Given the description of an element on the screen output the (x, y) to click on. 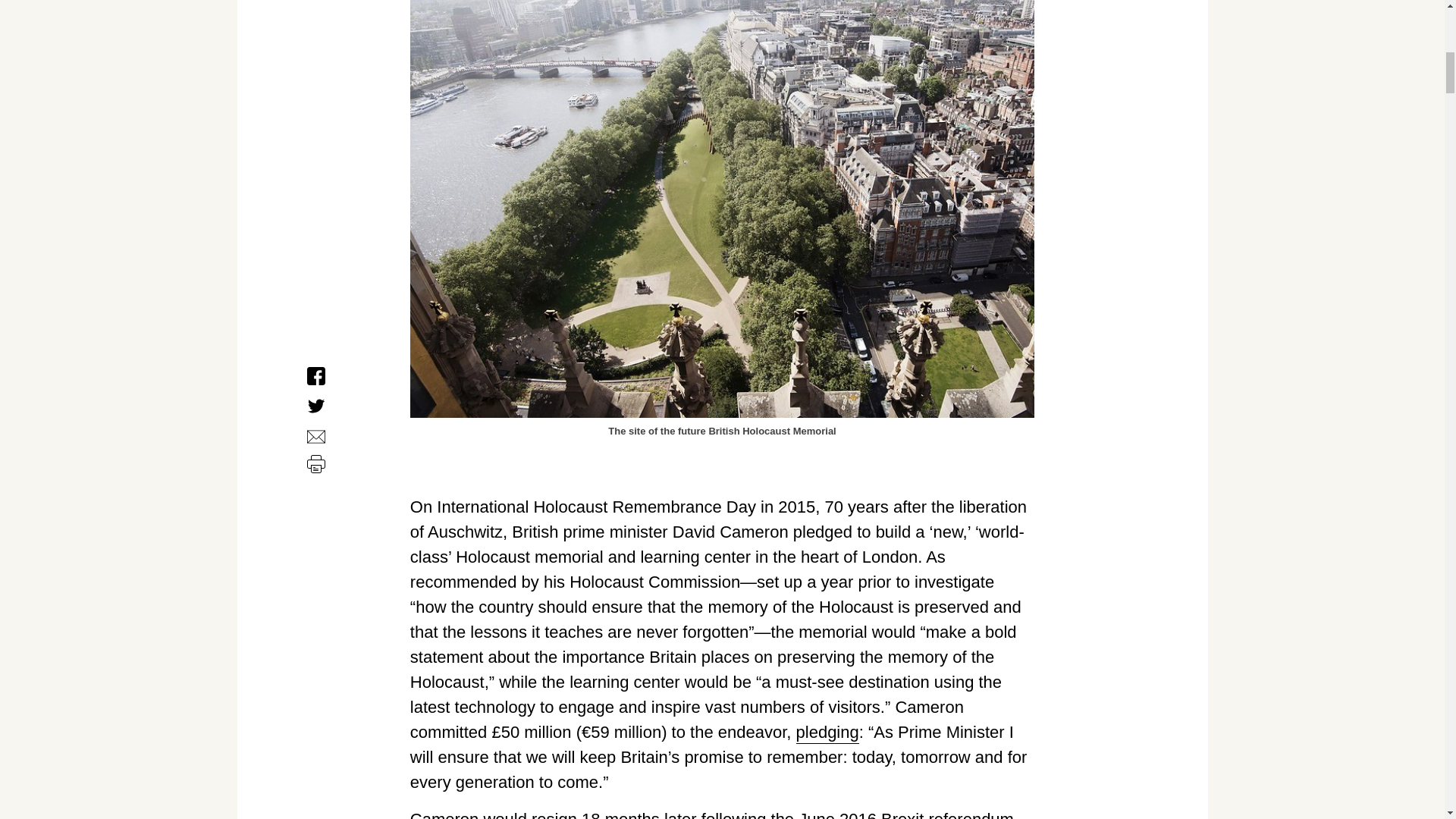
pledging (827, 732)
